Given the description of an element on the screen output the (x, y) to click on. 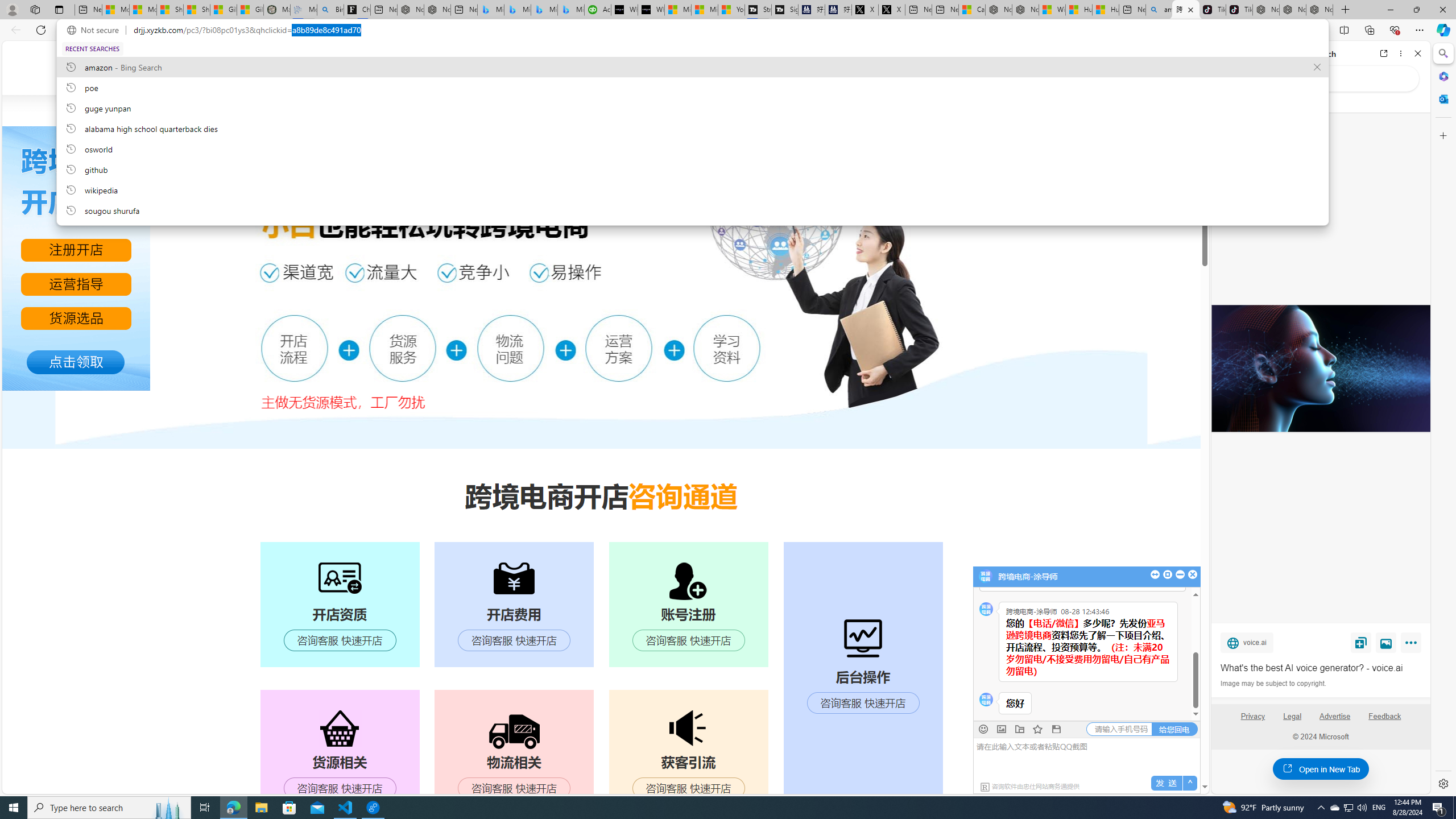
Legal (1291, 715)
Web scope (1230, 102)
Accounting Software for Accountants, CPAs and Bookkeepers (597, 9)
Class: logo (296, 67)
Remove suggestion (1316, 66)
